Given the description of an element on the screen output the (x, y) to click on. 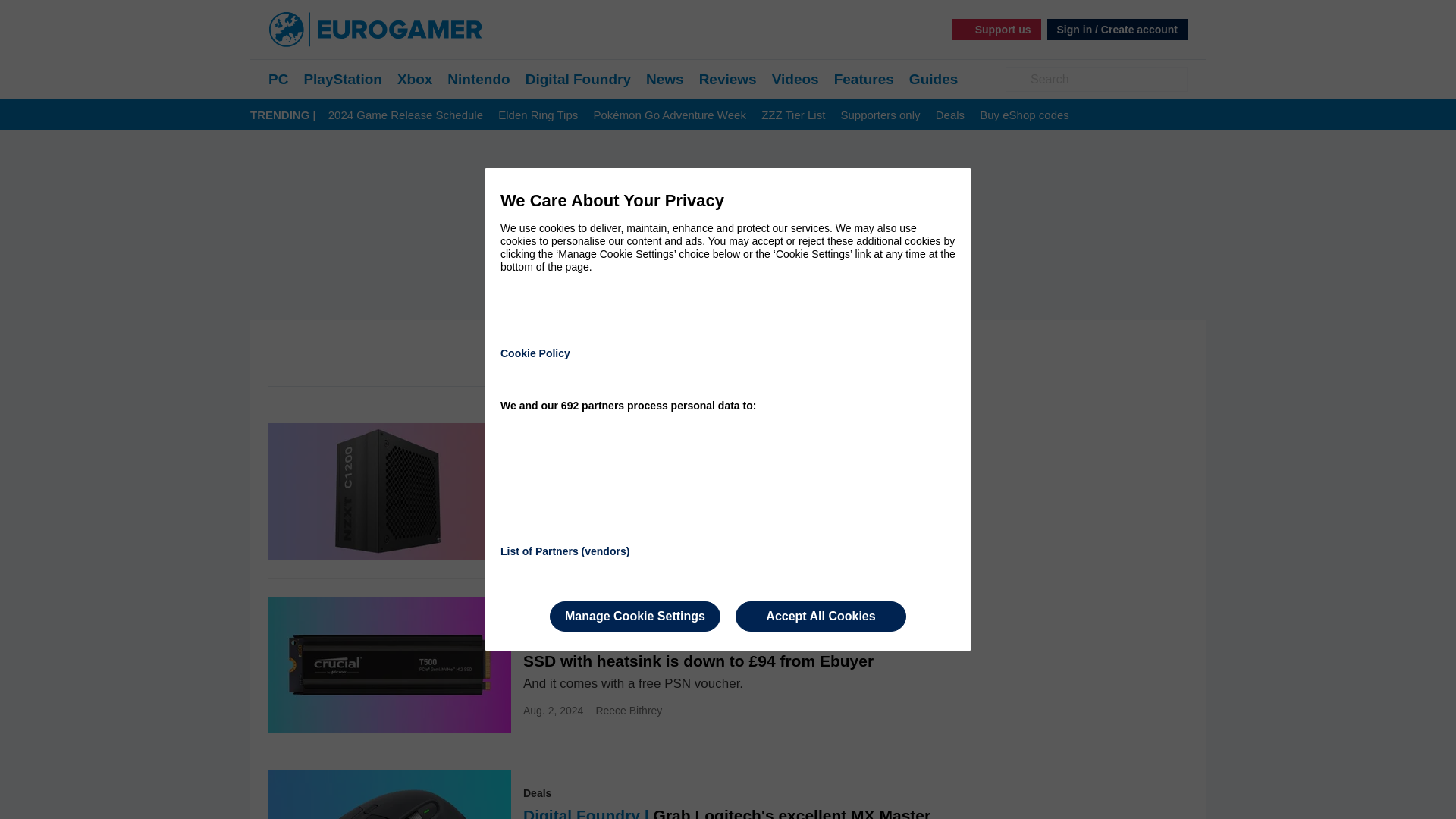
Digital Foundry (577, 78)
Xbox (414, 78)
Digital Foundry (577, 78)
Guides (933, 78)
Deals (949, 114)
ZZZ Tier List (793, 114)
News (665, 78)
Supporters only (880, 114)
Supporters only (880, 114)
Features (863, 78)
Features (863, 78)
Nintendo (477, 78)
Reviews (727, 78)
2024 Game Release Schedule (406, 114)
News (665, 78)
